Given the description of an element on the screen output the (x, y) to click on. 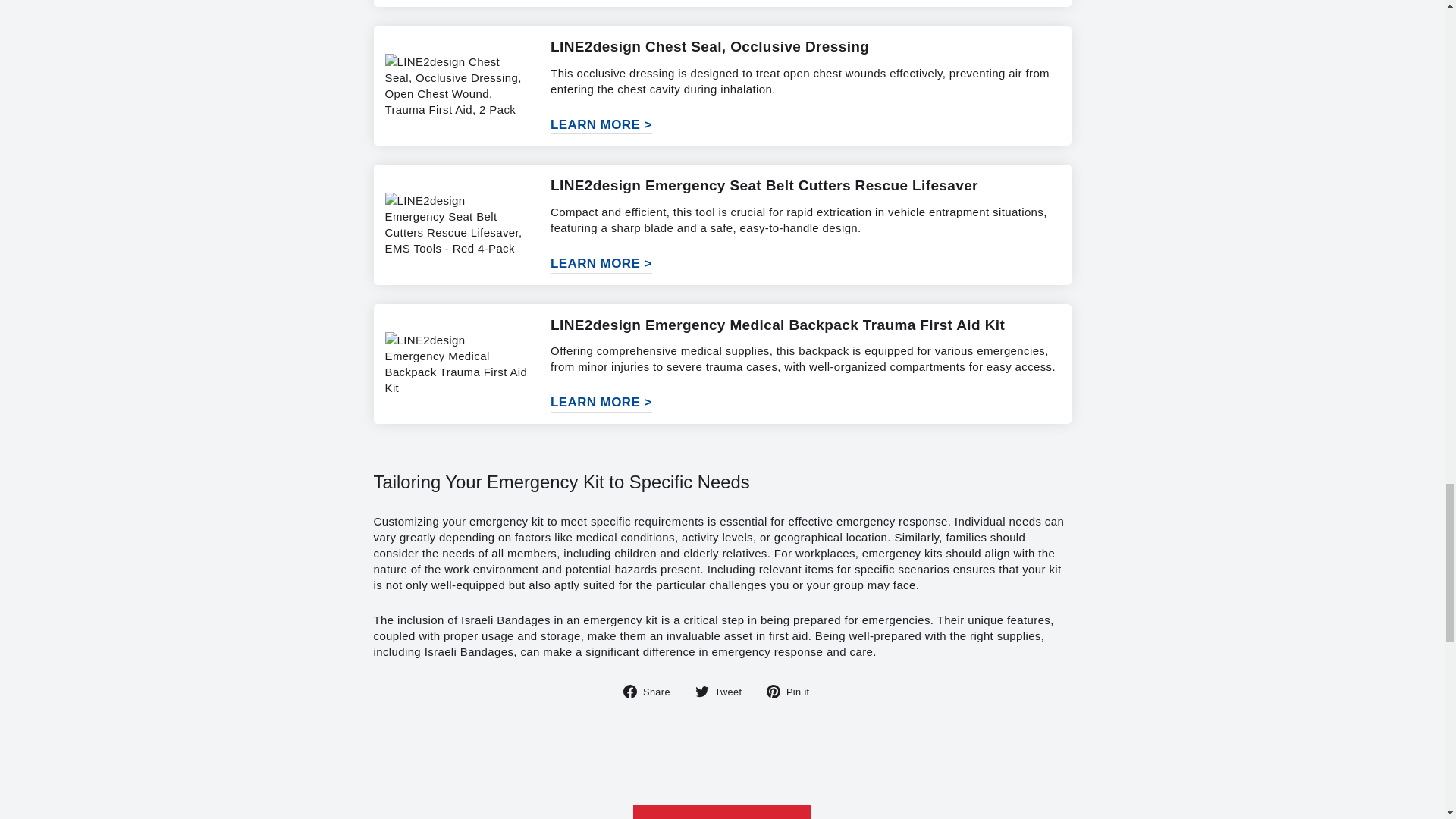
Share on Facebook (652, 690)
Pin on Pinterest (794, 690)
twitter (702, 691)
Tweet on Twitter (723, 690)
